Given the description of an element on the screen output the (x, y) to click on. 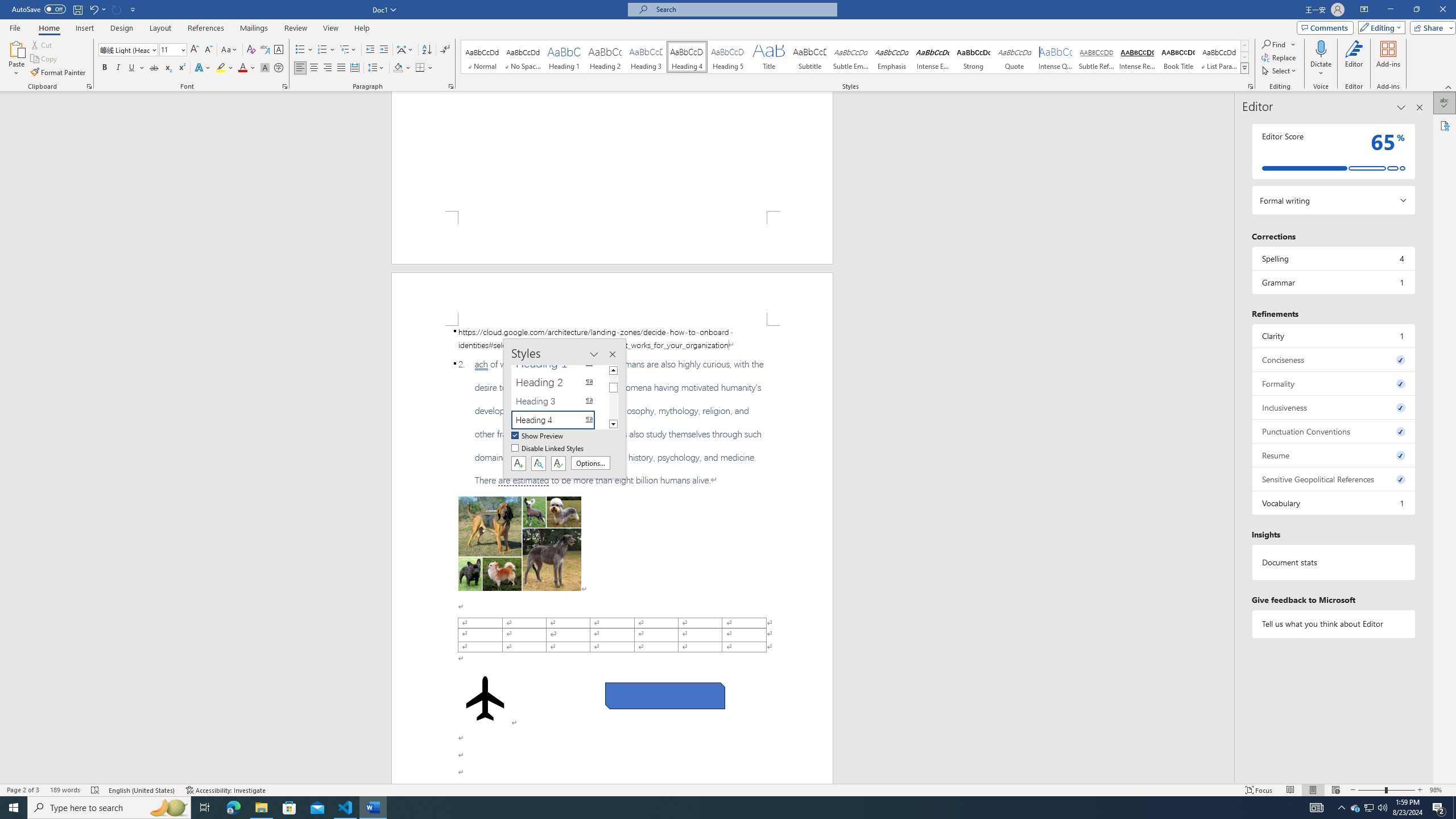
Design (122, 28)
Strikethrough (154, 67)
Close (1442, 9)
Grow Font (193, 49)
Insert (83, 28)
Undo Style (92, 9)
Font Color Automatic (241, 67)
Zoom In (1420, 790)
Text Highlight Color Yellow (220, 67)
Borders (419, 67)
Ribbon Display Options (1364, 9)
Airplane with solid fill (485, 697)
Italic (118, 67)
Font Color (246, 67)
Font (124, 49)
